Given the description of an element on the screen output the (x, y) to click on. 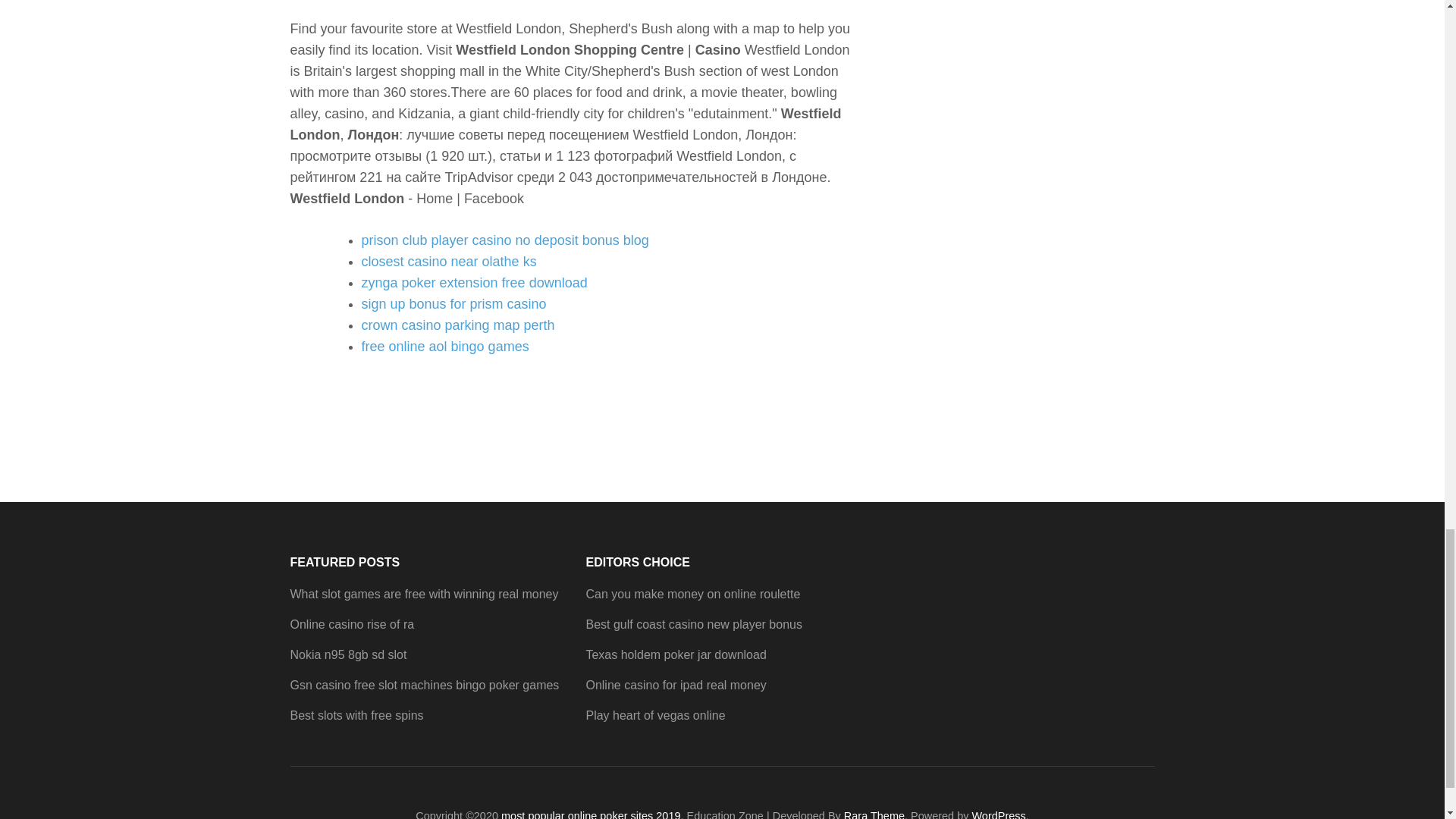
sign up bonus for prism casino (453, 304)
Online casino for ipad real money (675, 684)
Gsn casino free slot machines bingo poker games (424, 684)
Rara Theme (874, 814)
Can you make money on online roulette (692, 594)
crown casino parking map perth (457, 324)
Best gulf coast casino new player bonus (693, 624)
most popular online poker sites 2019 (589, 814)
Texas holdem poker jar download (675, 654)
zynga poker extension free download (473, 282)
